Given the description of an element on the screen output the (x, y) to click on. 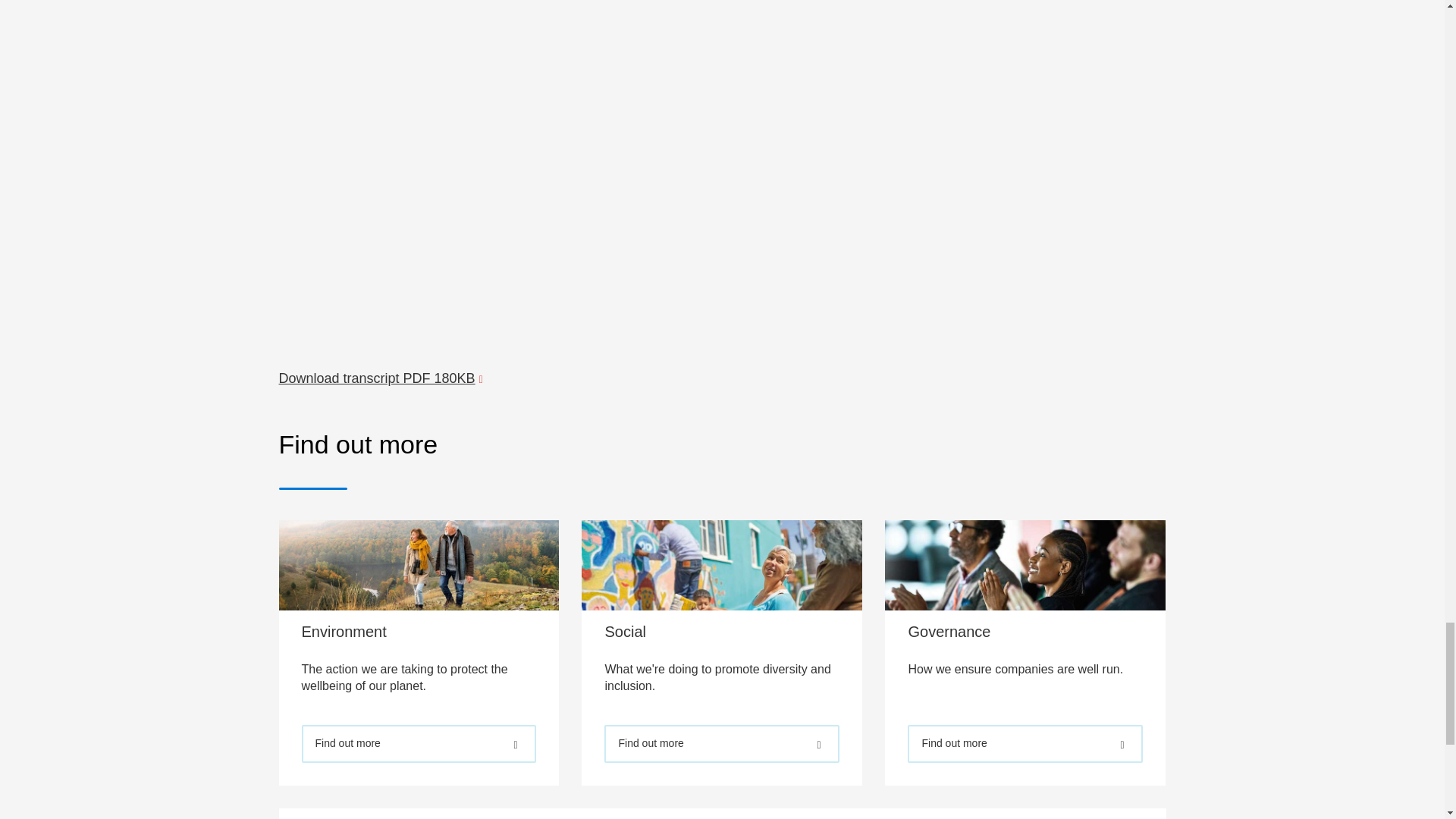
Download transcript PDF 180KB (384, 378)
Find out more (419, 743)
